Given the description of an element on the screen output the (x, y) to click on. 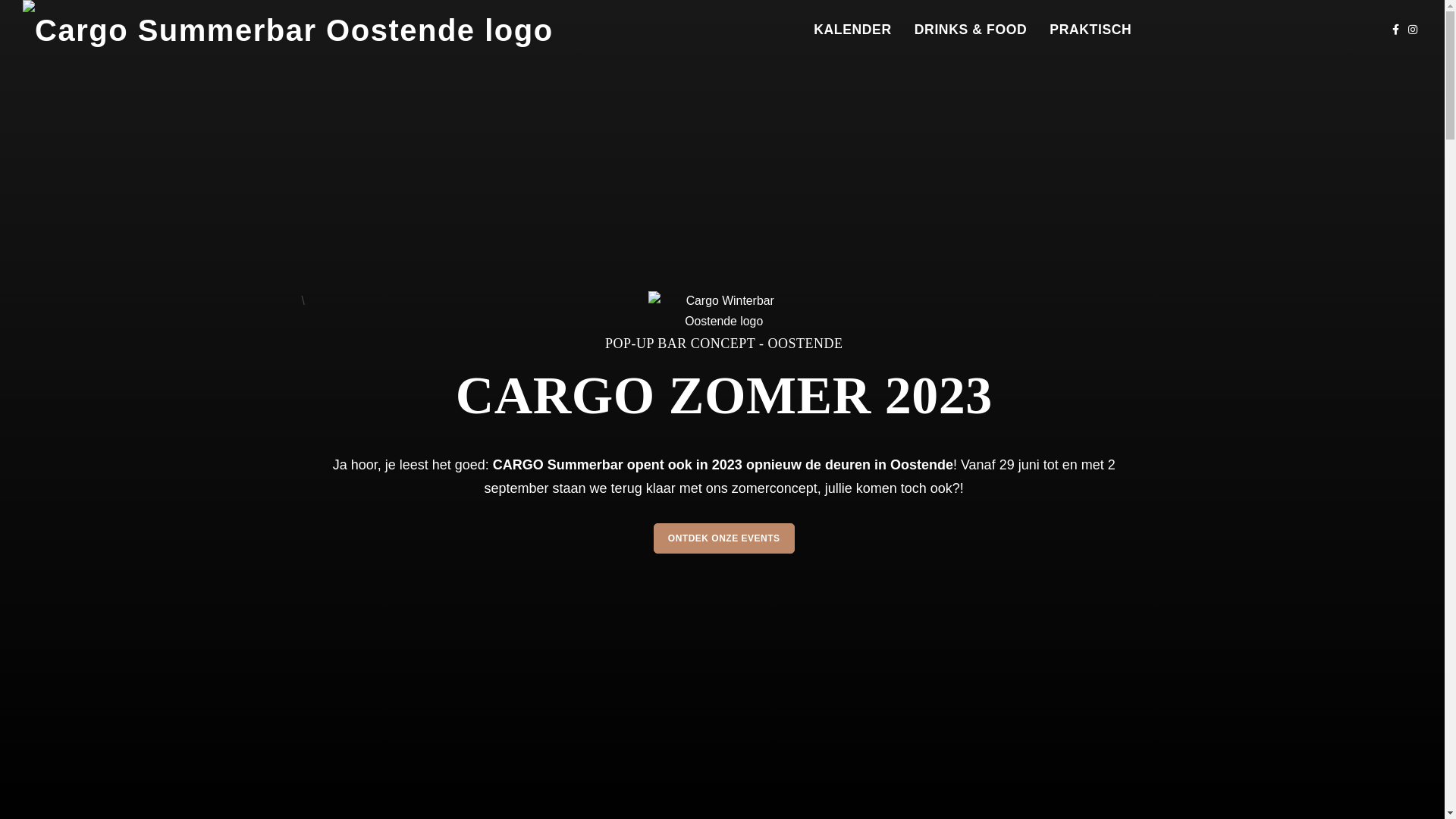
ONTDEK ONZE EVENTS Element type: text (723, 538)
DRINKS & FOOD Element type: text (970, 29)
KALENDER Element type: text (852, 29)
PRAKTISCH Element type: text (1090, 29)
